Given the description of an element on the screen output the (x, y) to click on. 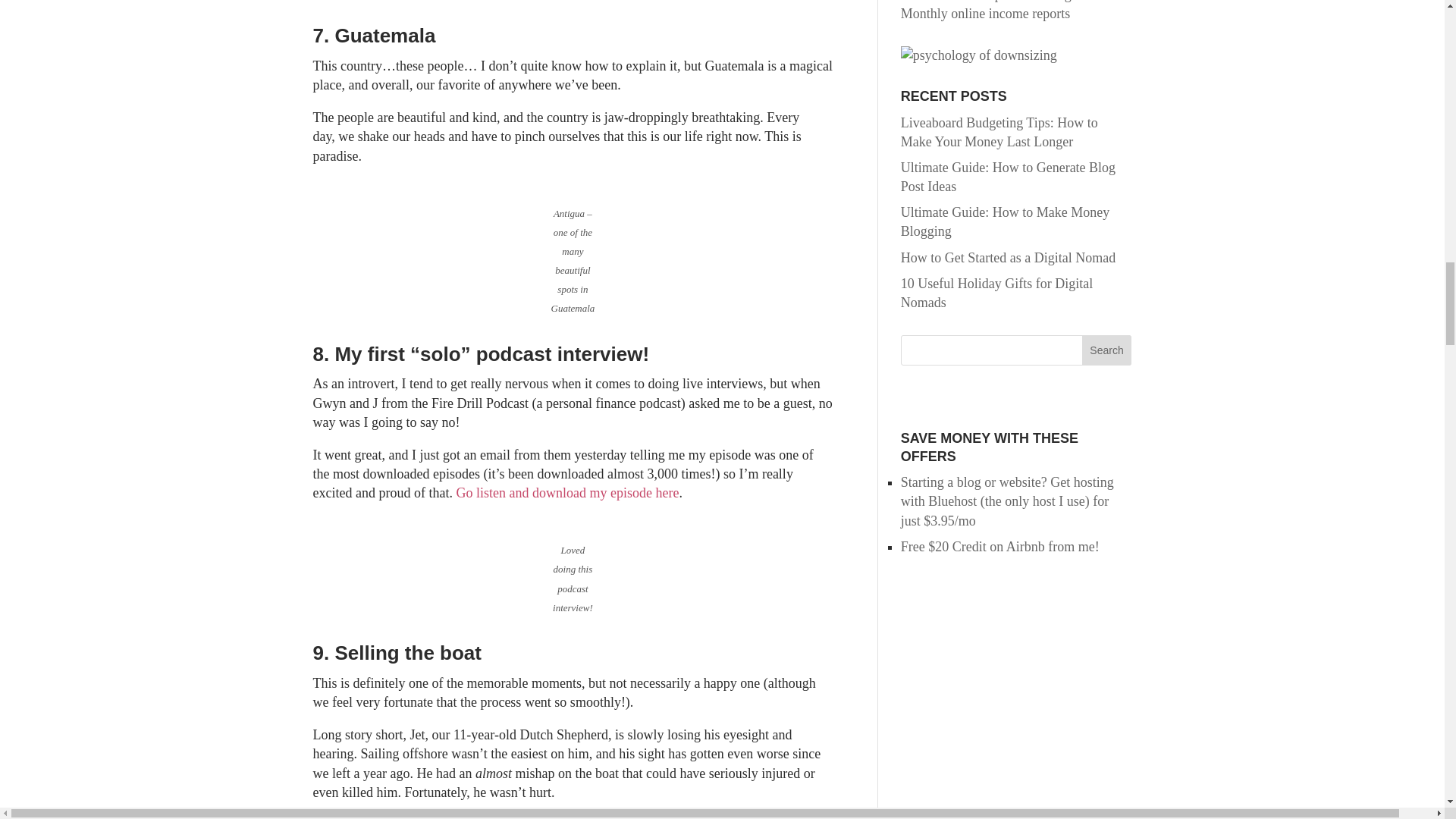
Search (1106, 349)
Go listen and download my episode here (566, 492)
